Given the description of an element on the screen output the (x, y) to click on. 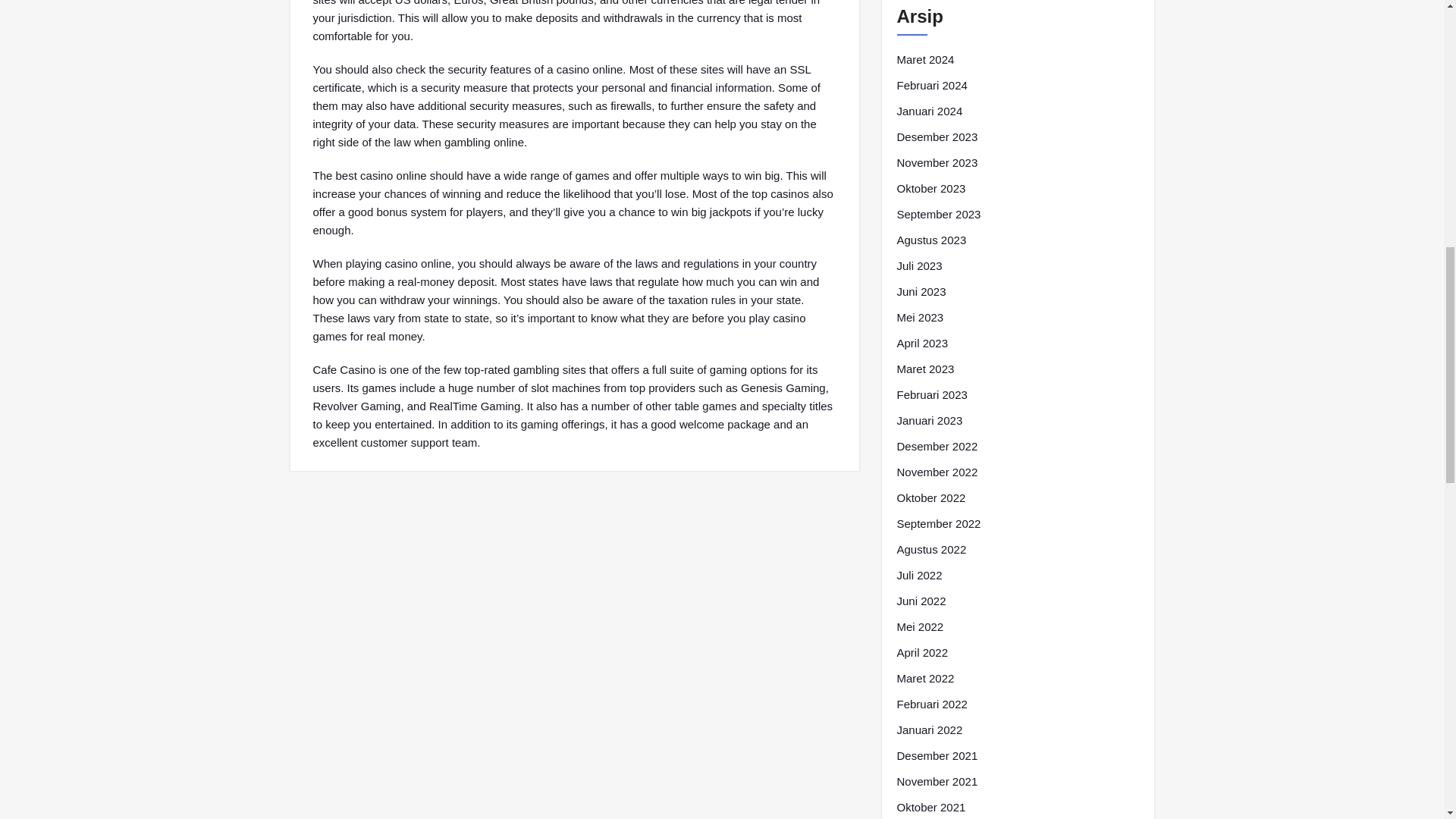
Desember 2023 (936, 136)
Februari 2023 (931, 394)
Maret 2024 (924, 59)
November 2022 (936, 472)
November 2023 (936, 162)
Januari 2023 (929, 420)
Mei 2023 (919, 317)
Juli 2023 (919, 266)
April 2023 (921, 343)
Januari 2024 (929, 111)
